Given the description of an element on the screen output the (x, y) to click on. 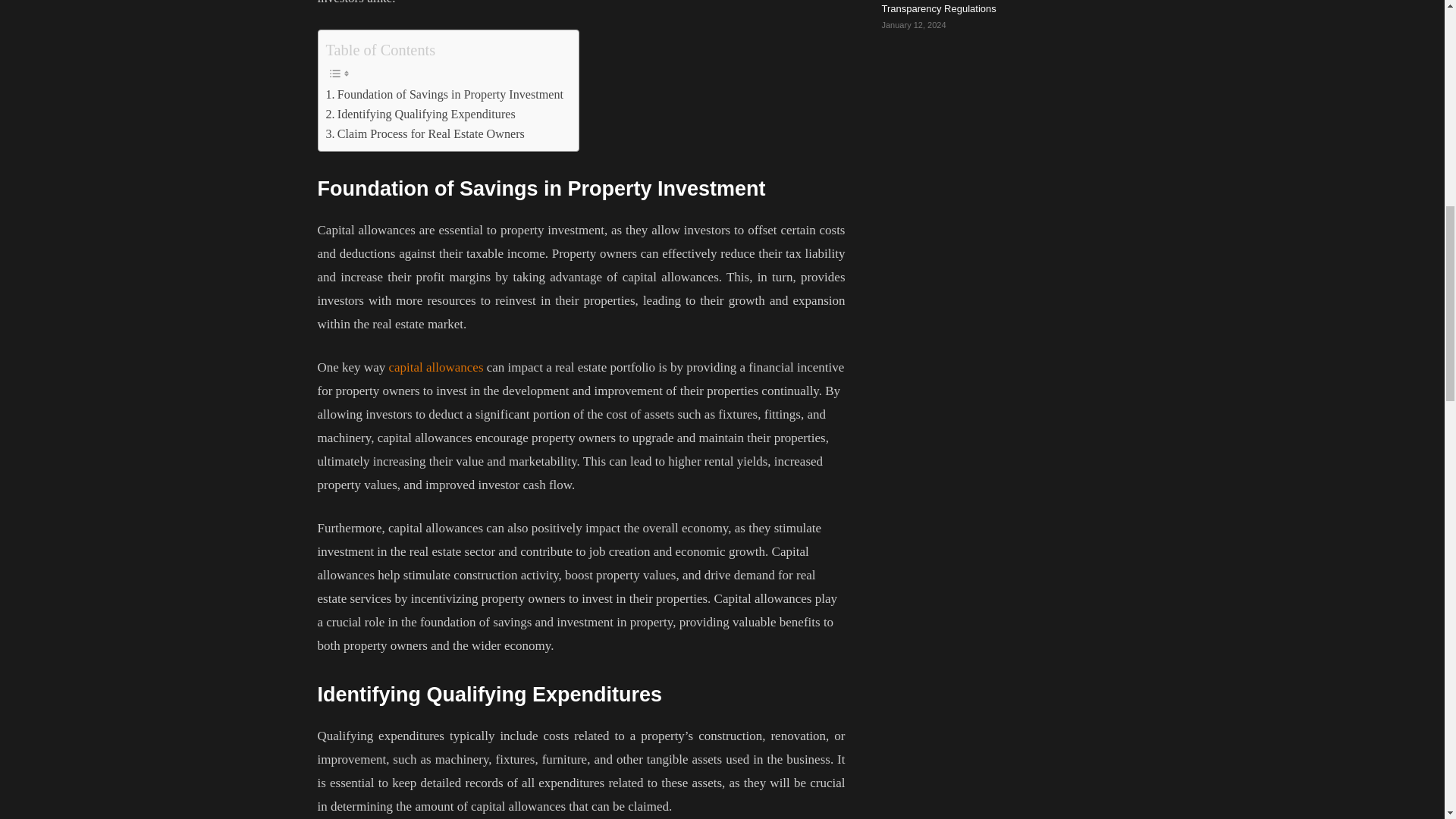
capital allowances (435, 367)
Claim Process for Real Estate Owners (425, 134)
Foundation of Savings in Property Investment (444, 94)
Claim Process for Real Estate Owners (425, 134)
Foundation of Savings in Property Investment (444, 94)
Identifying Qualifying Expenditures (420, 114)
Identifying Qualifying Expenditures (420, 114)
